Given the description of an element on the screen output the (x, y) to click on. 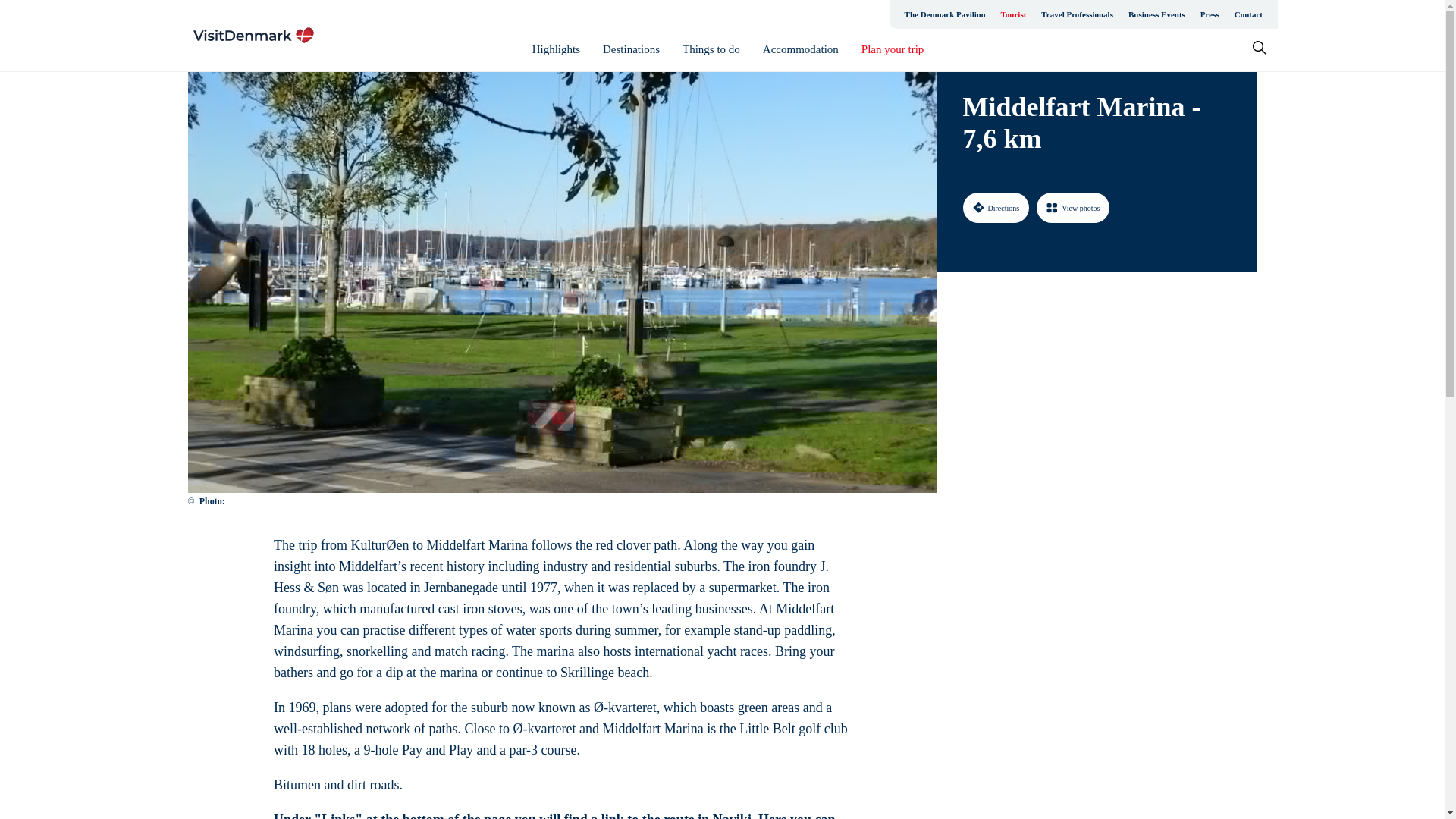
Accommodation (800, 49)
Business Events (1156, 14)
Highlights (555, 49)
View photos (1072, 207)
Things to do (710, 49)
Contact (1248, 14)
Travel Professionals (1077, 14)
Plan your trip (892, 49)
Tourist (1012, 14)
Destinations (630, 49)
Go to homepage (253, 35)
Press (1209, 14)
Directions (995, 207)
The Denmark Pavilion (944, 14)
